Given the description of an element on the screen output the (x, y) to click on. 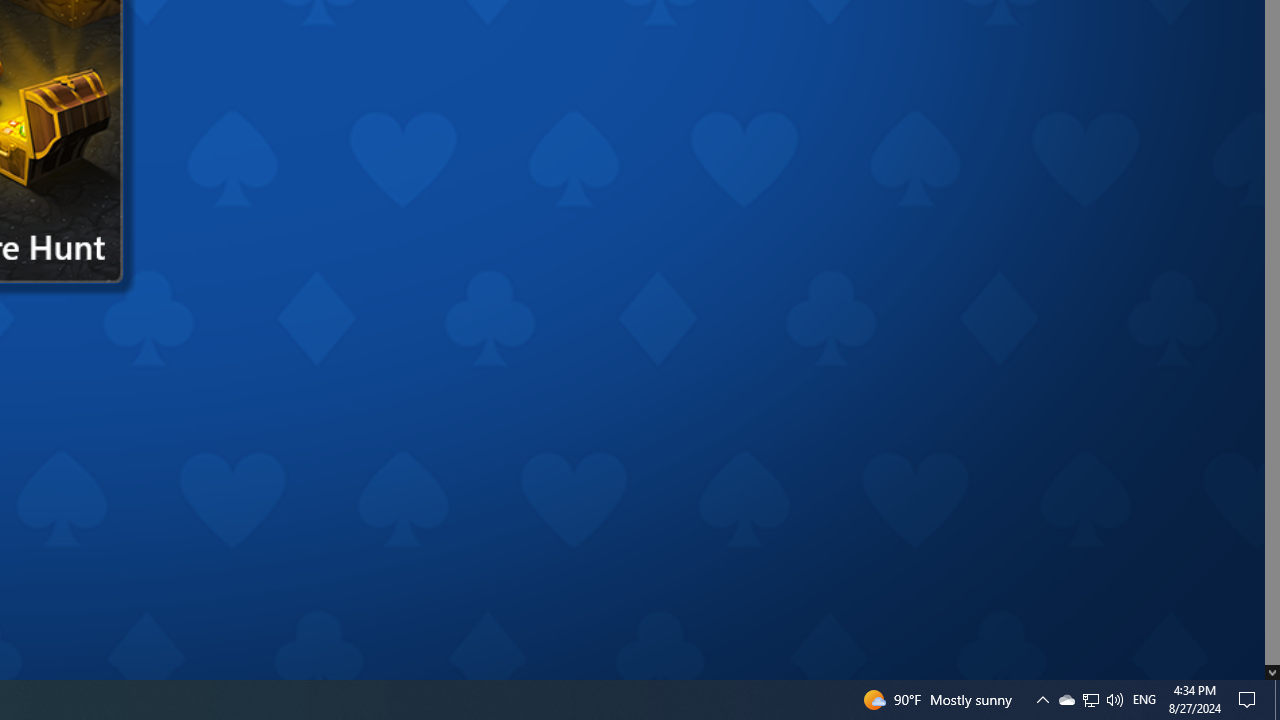
AutomationID: down_arrow_0 (1272, 672)
Tray Input Indicator - English (United States) (1144, 699)
